Given the description of an element on the screen output the (x, y) to click on. 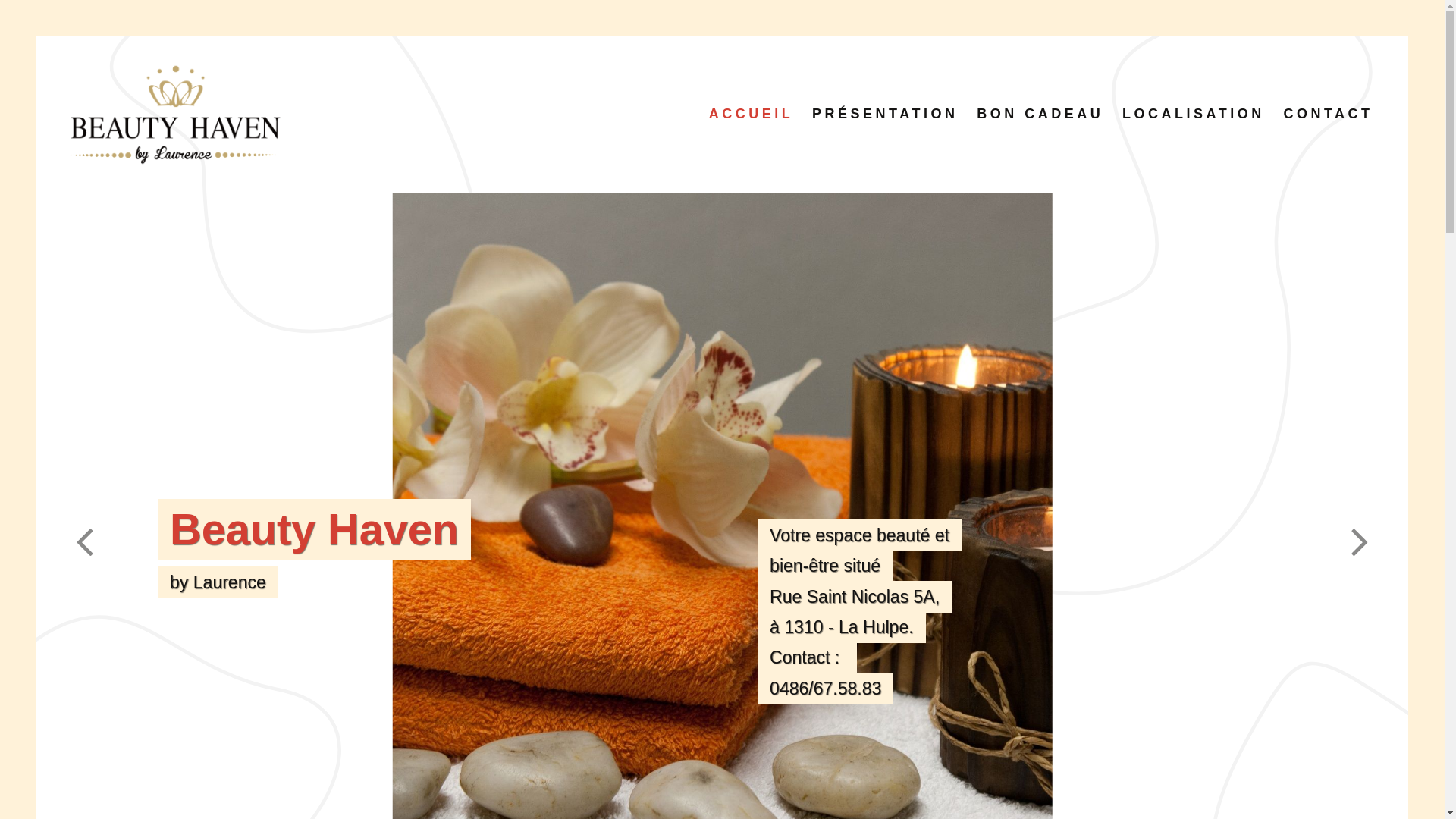
LOCALISATION Element type: text (1193, 113)
ACCUEIL Element type: text (750, 113)
Beauty Haven Element type: text (1129, 529)
Beauty Haven Element type: text (313, 529)
Beauty Haven Element type: text (1085, 529)
CONTACT Element type: text (1328, 113)
Beauty Haven Element type: text (1114, 529)
BON CADEAU Element type: text (1040, 113)
